Given the description of an element on the screen output the (x, y) to click on. 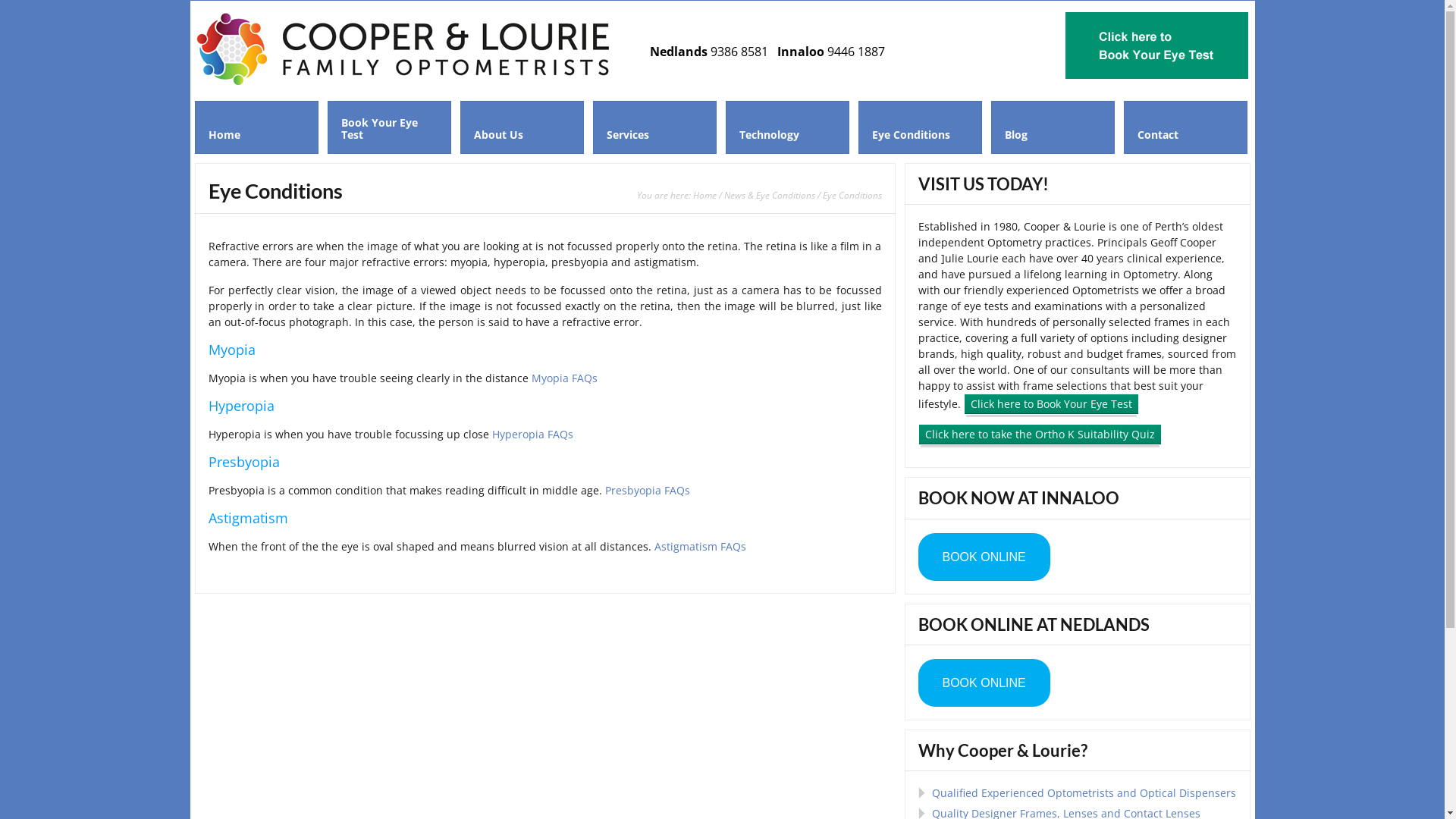
News & Eye Conditions Element type: text (768, 194)
Presbyopia FAQs Element type: text (647, 490)
Home Element type: text (704, 194)
Book Your Eye Test Element type: text (389, 126)
Click here to take the Ortho K Suitability Quiz Element type: text (1039, 434)
9386 8581 Element type: text (738, 51)
BOOK ONLINE Element type: text (983, 682)
Hyperopia FAQs Element type: text (531, 433)
Technology Element type: text (786, 126)
Qualified Experienced Optometrists and Optical Dispensers Element type: text (1083, 792)
Click here to Book Your Eye Test Element type: text (1050, 403)
Blog Element type: text (1051, 126)
Eye Conditions Element type: text (920, 126)
Astigmatism FAQs Element type: text (699, 546)
Contact Element type: text (1185, 126)
About Us Element type: text (521, 126)
BOOK ONLINE Element type: text (983, 556)
Services Element type: text (654, 126)
9446 1887 Element type: text (855, 51)
Home Element type: text (255, 126)
Myopia FAQs Element type: text (563, 377)
